Given the description of an element on the screen output the (x, y) to click on. 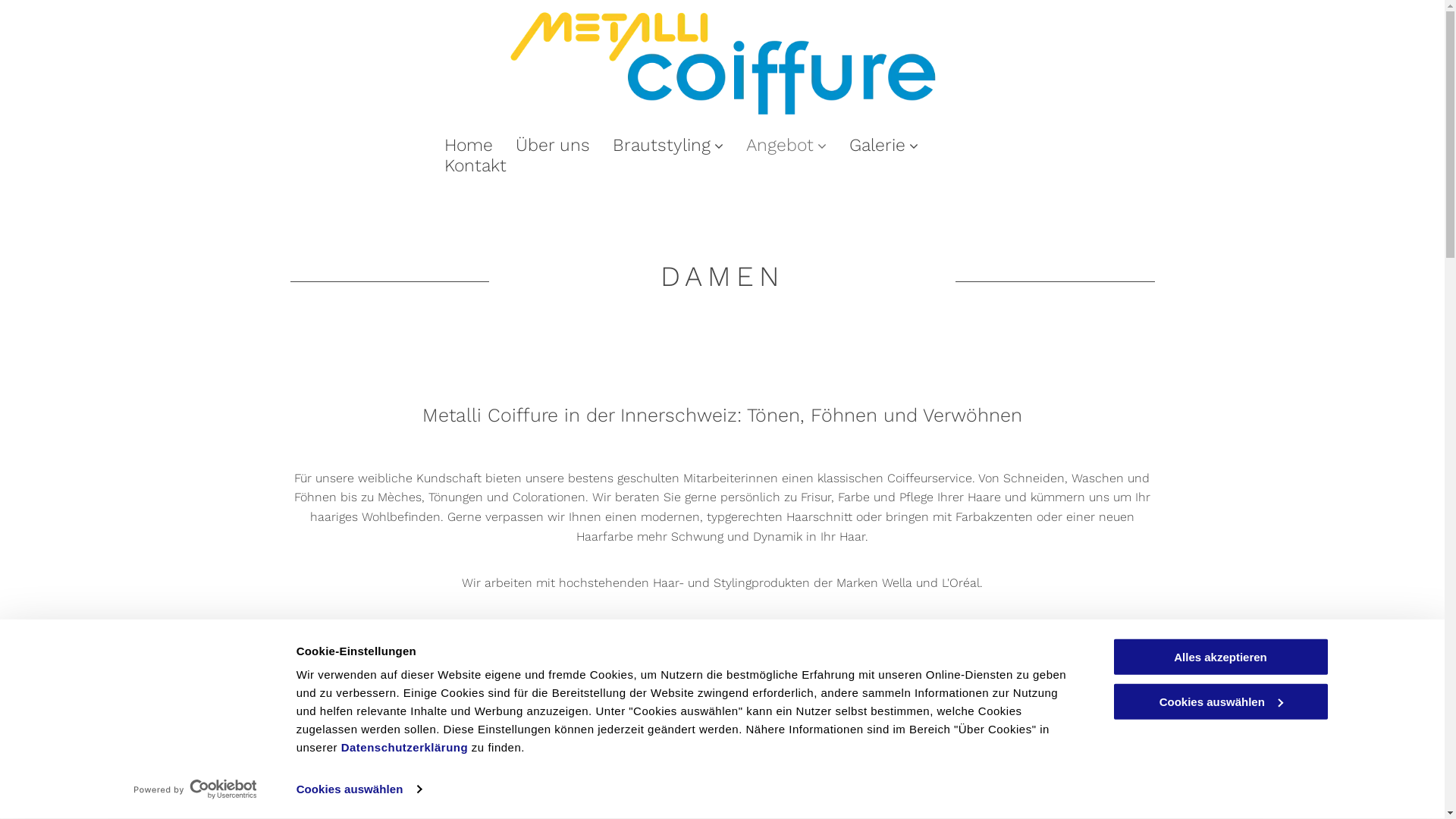
Home Element type: text (467, 144)
Angebot Element type: text (785, 144)
Alles akzeptieren Element type: text (1219, 656)
Galerie Element type: text (882, 144)
Brautstyling Element type: text (667, 144)
Kontakt Element type: text (474, 165)
